Given the description of an element on the screen output the (x, y) to click on. 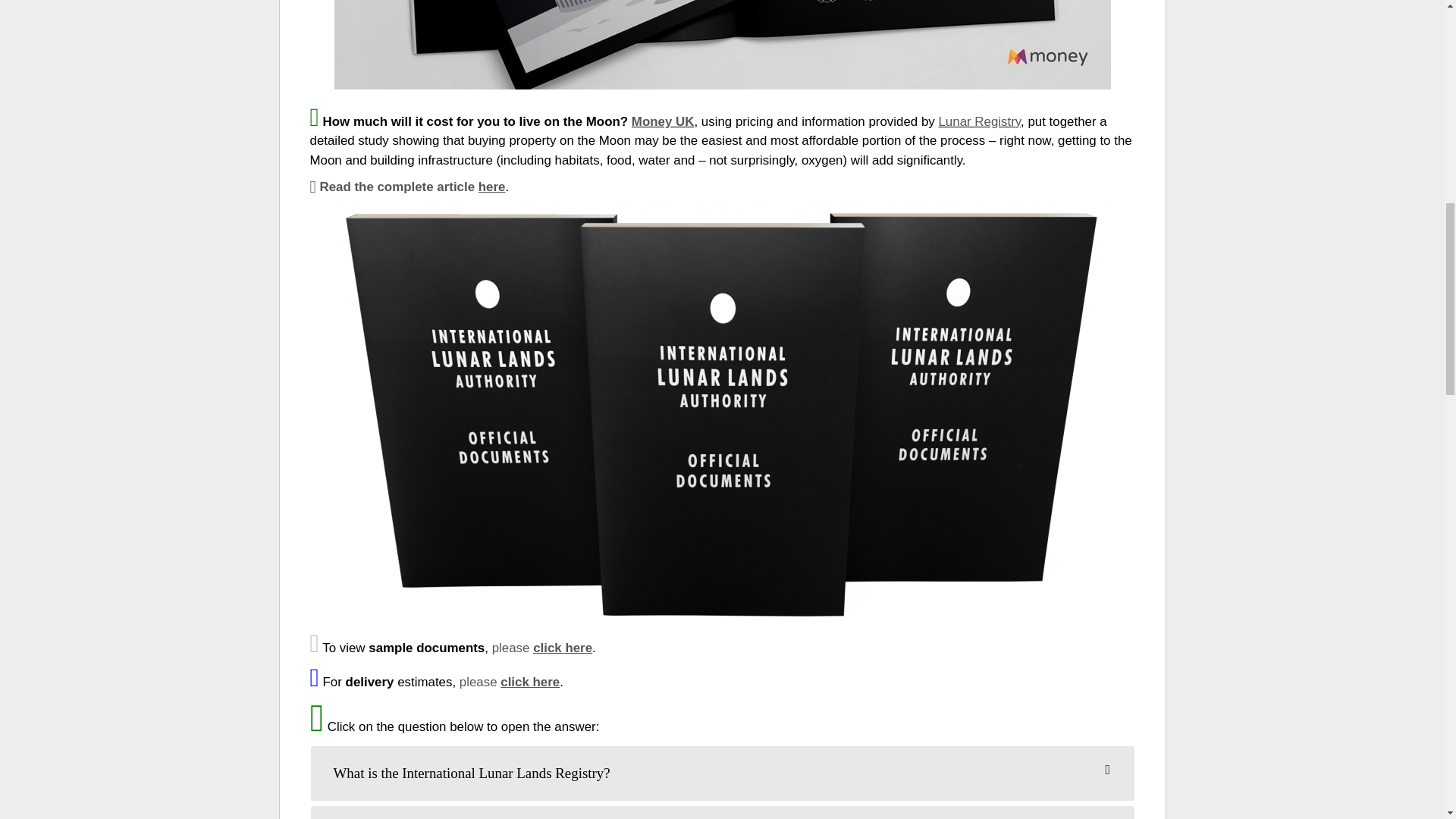
Read the complete article here (406, 186)
please click here (542, 647)
Lunar Registry (978, 121)
Money UK (662, 121)
please click here (509, 681)
What is the International Lunar Lands Registry? (721, 773)
